Given the description of an element on the screen output the (x, y) to click on. 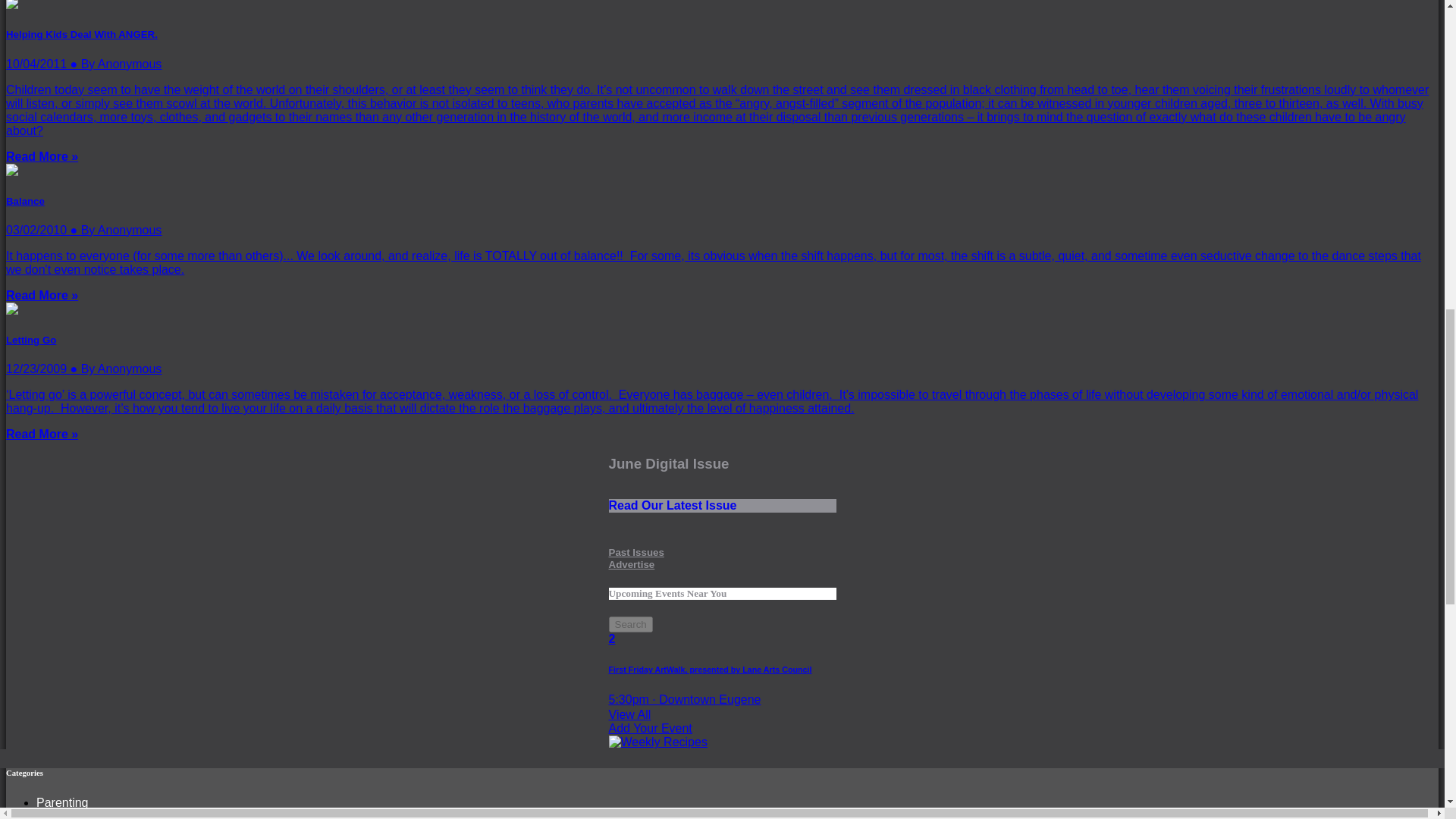
Advertise (630, 564)
Add Your Event (721, 734)
Past Issues (635, 552)
View All (721, 714)
Search (721, 483)
